Given the description of an element on the screen output the (x, y) to click on. 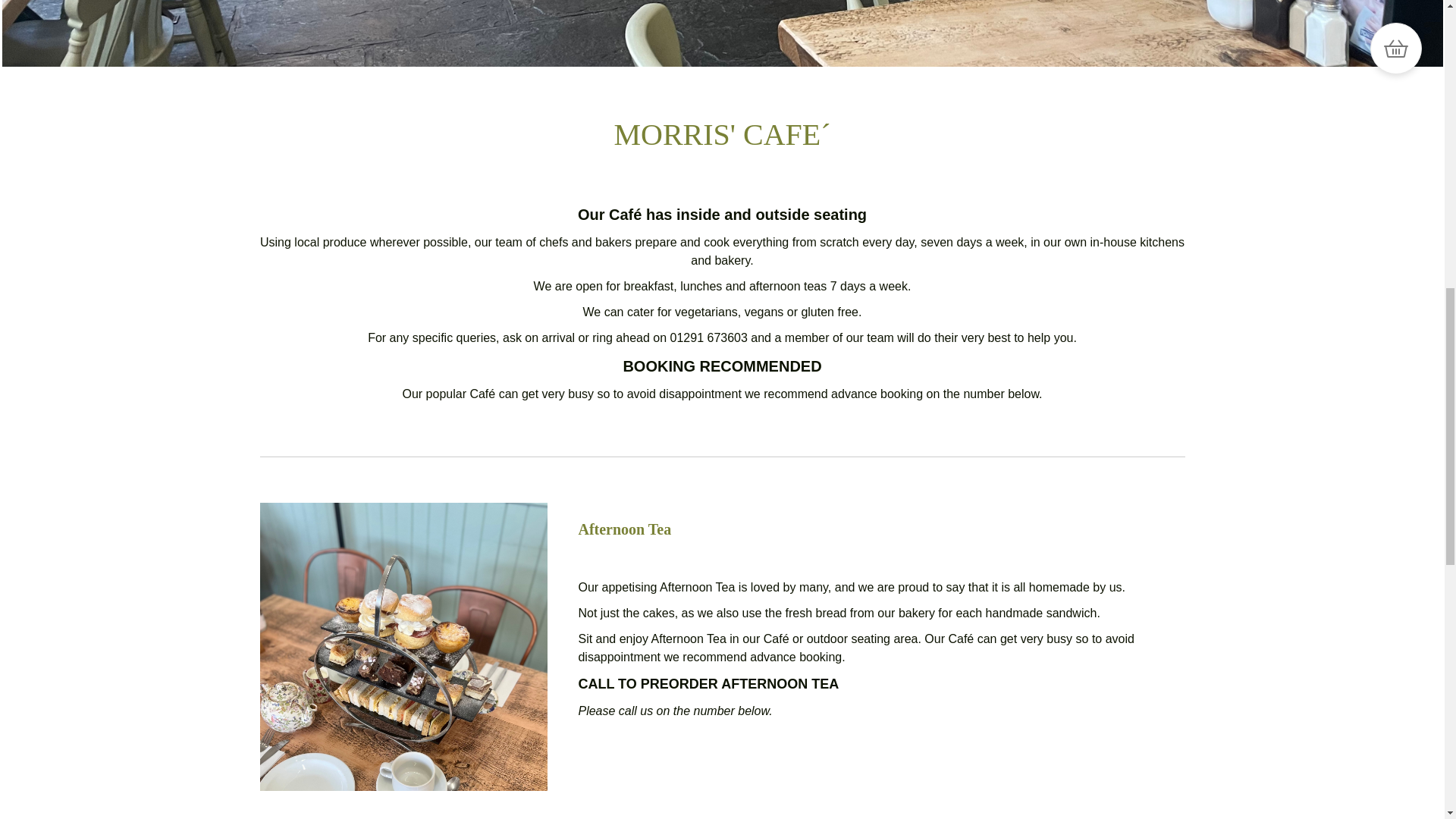
Cafe Morris of Usk (721, 33)
Afternoon Tea 1 (403, 646)
